Given the description of an element on the screen output the (x, y) to click on. 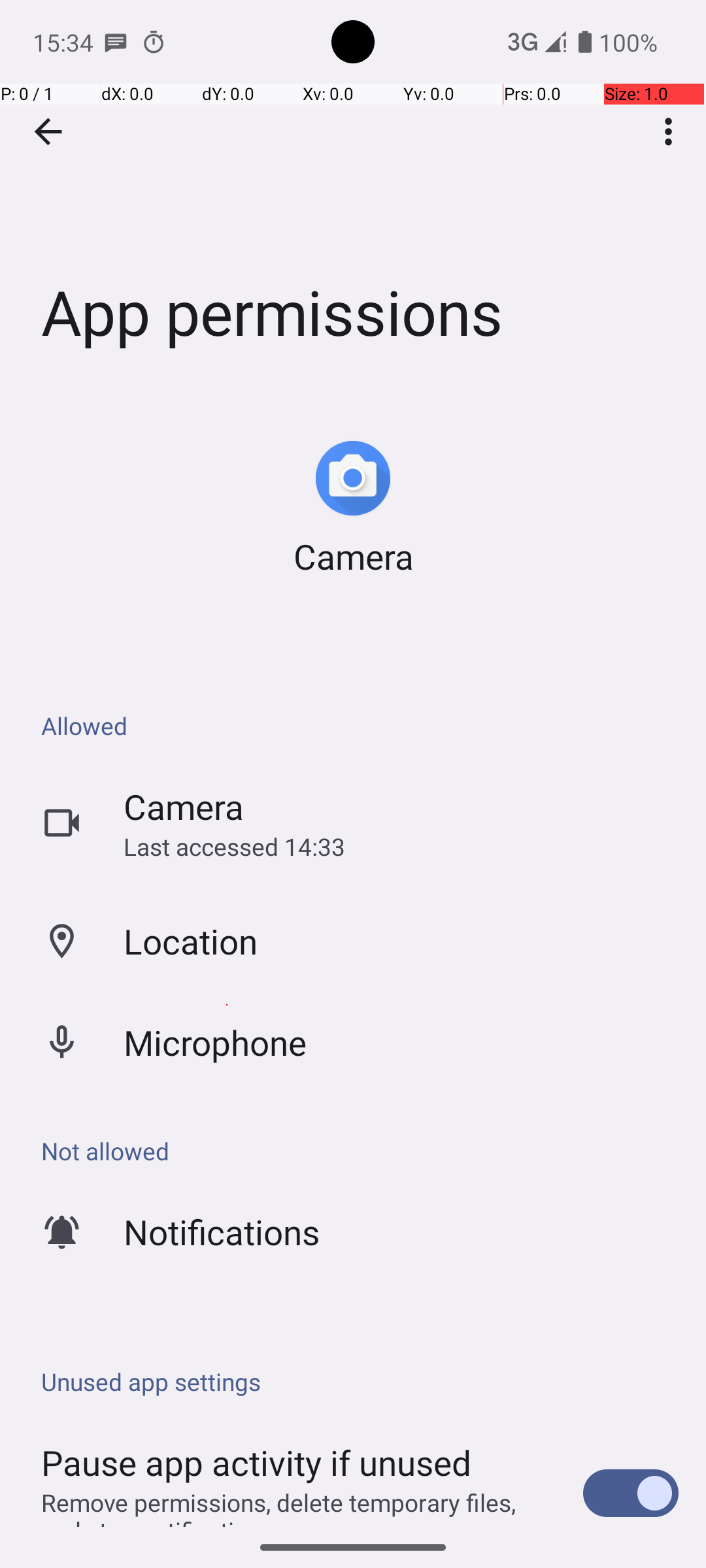
App permissions Element type: android.widget.FrameLayout (353, 195)
Last accessed 14:33 Element type: android.widget.TextView (234, 846)
Microphone Element type: android.widget.TextView (215, 1042)
Not allowed Element type: android.widget.TextView (359, 1150)
Unused app settings Element type: android.widget.TextView (359, 1381)
Pause app activity if unused Element type: android.widget.TextView (256, 1462)
Remove permissions, delete temporary files, and stop notifications Element type: android.widget.TextView (298, 1505)
